Given the description of an element on the screen output the (x, y) to click on. 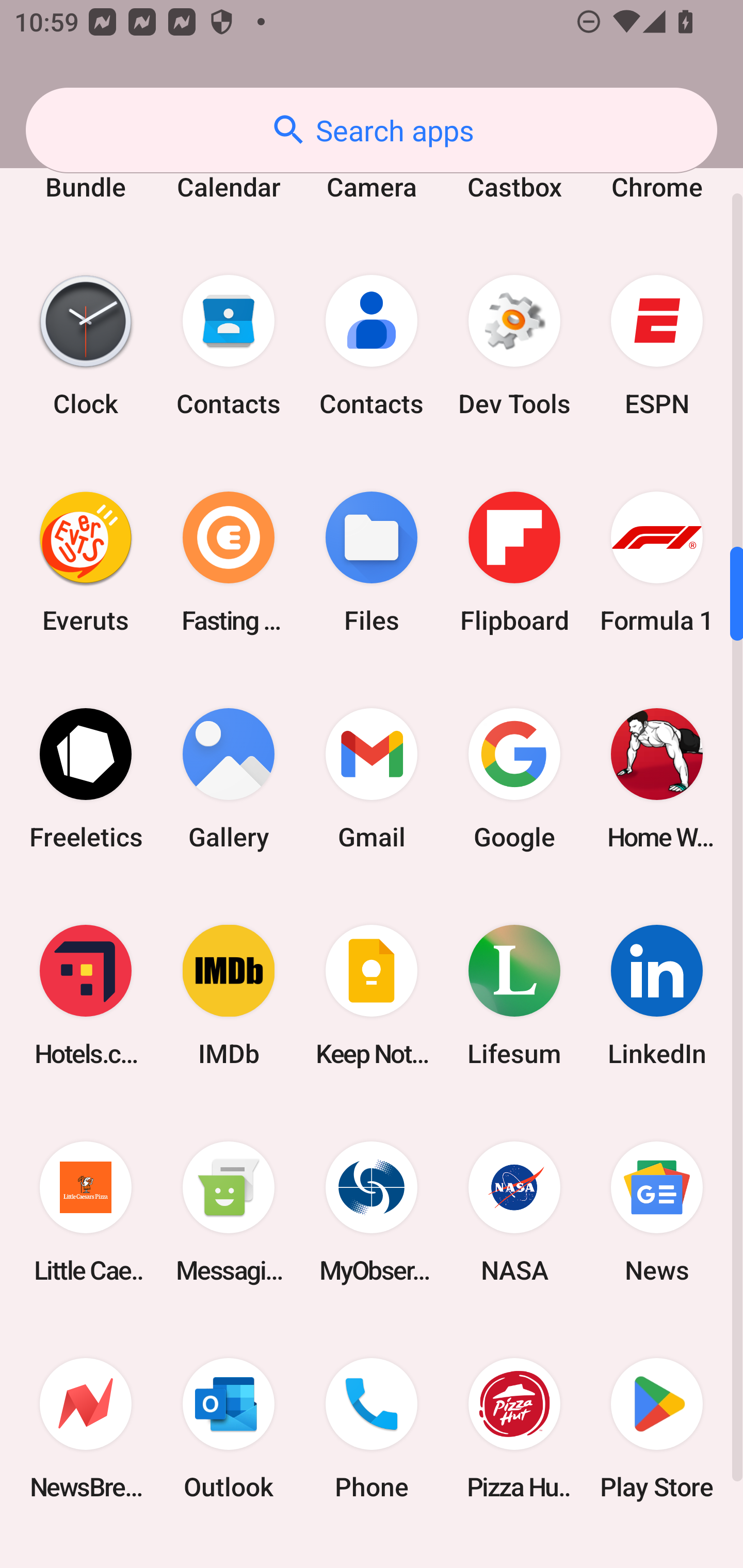
  Search apps (371, 130)
Clock (85, 344)
Contacts (228, 344)
Contacts (371, 344)
Dev Tools (514, 344)
ESPN (656, 344)
Everuts (85, 562)
Fasting Coach (228, 562)
Files (371, 562)
Flipboard (514, 562)
Formula 1 (656, 562)
Freeletics (85, 779)
Gallery (228, 779)
Gmail (371, 779)
Google (514, 779)
Home Workout (656, 779)
Hotels.com (85, 995)
IMDb (228, 995)
Keep Notes (371, 995)
Lifesum (514, 995)
LinkedIn (656, 995)
Little Caesars Pizza (85, 1211)
Messaging (228, 1211)
MyObservatory (371, 1211)
NASA (514, 1211)
News (656, 1211)
NewsBreak (85, 1428)
Outlook (228, 1428)
Phone (371, 1428)
Pizza Hut HK & Macau (514, 1428)
Play Store (656, 1428)
